Given the description of an element on the screen output the (x, y) to click on. 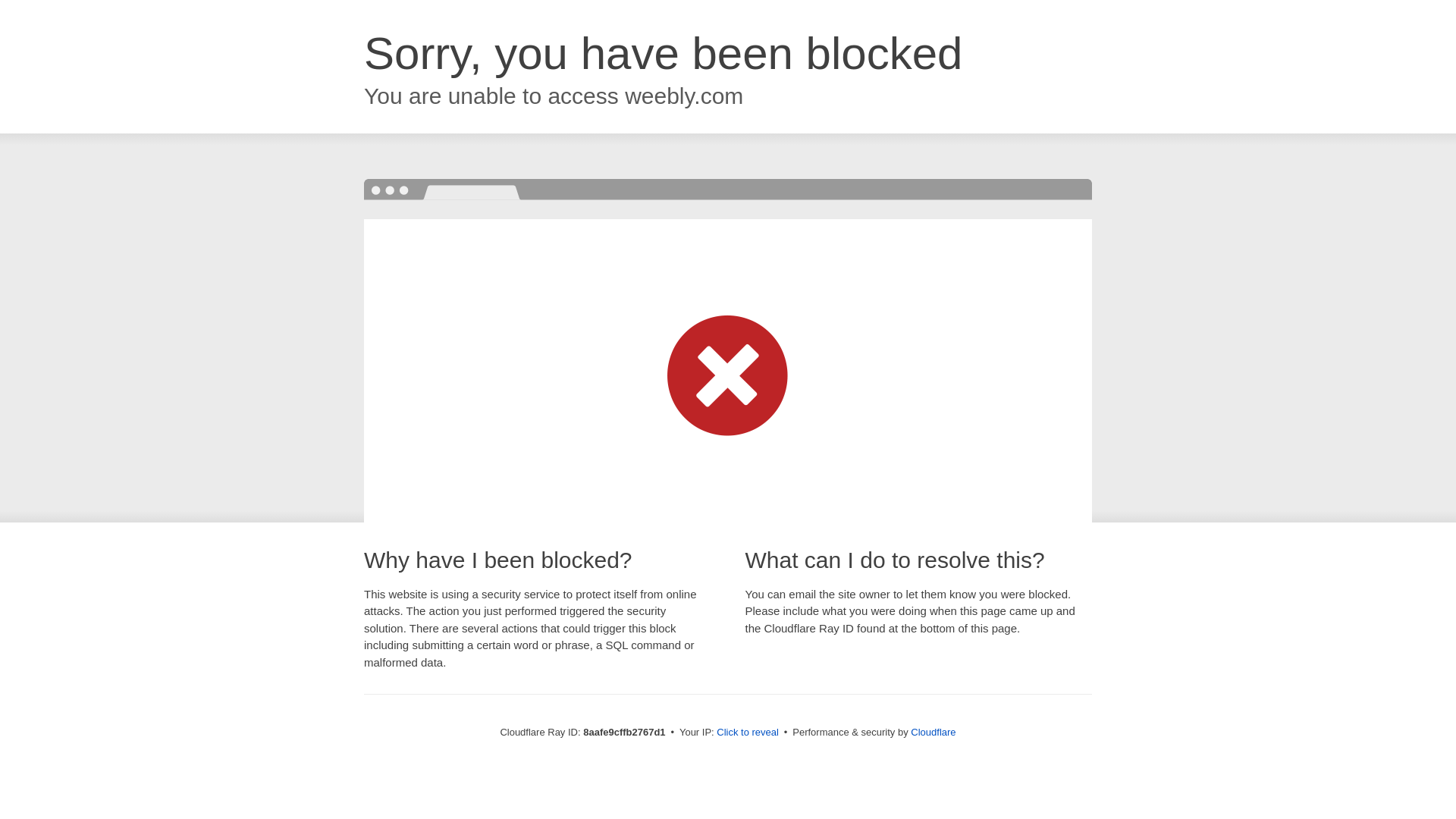
Click to reveal (747, 732)
Cloudflare (933, 731)
